Given the description of an element on the screen output the (x, y) to click on. 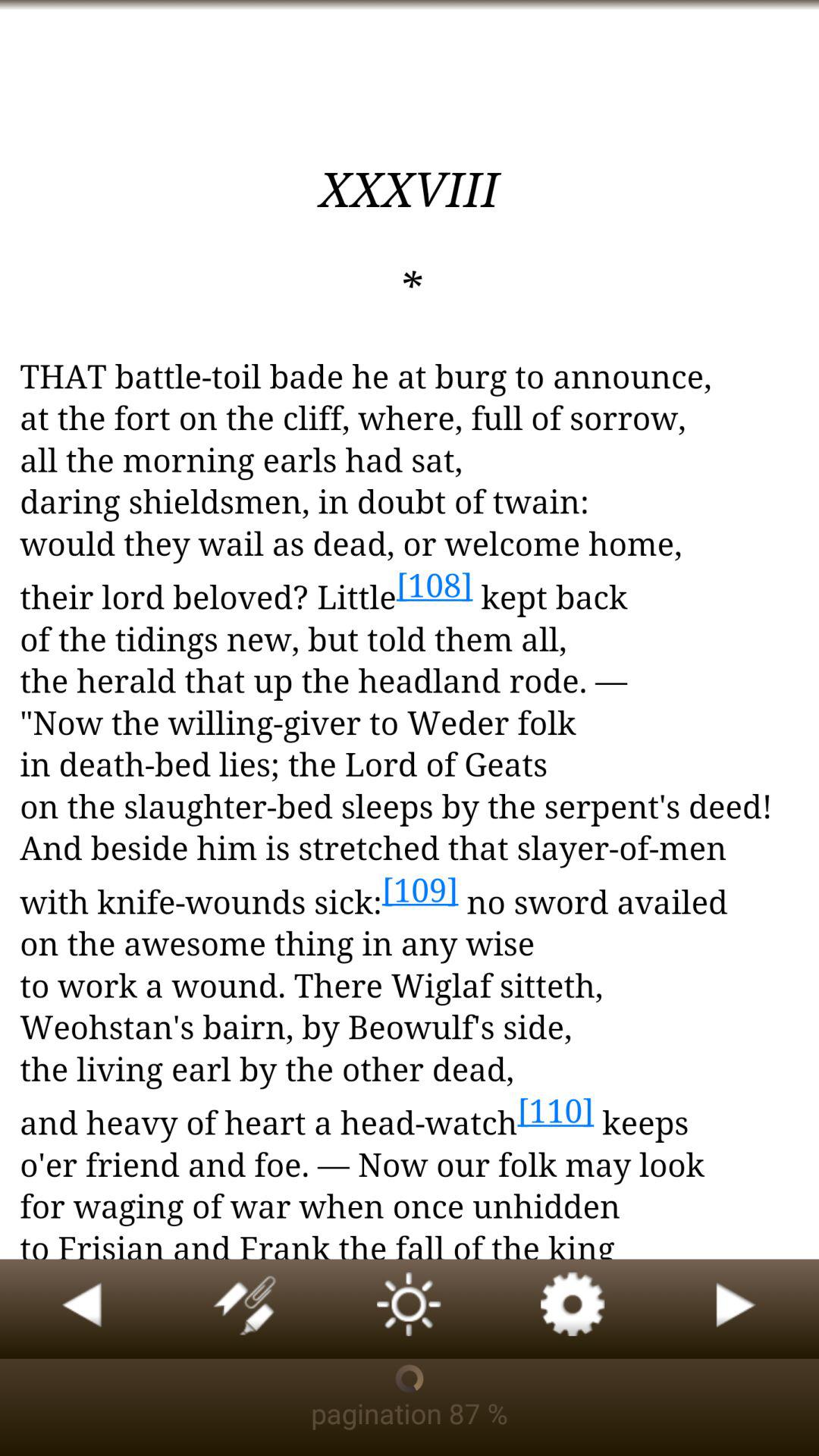
go to settings (573, 1308)
